Given the description of an element on the screen output the (x, y) to click on. 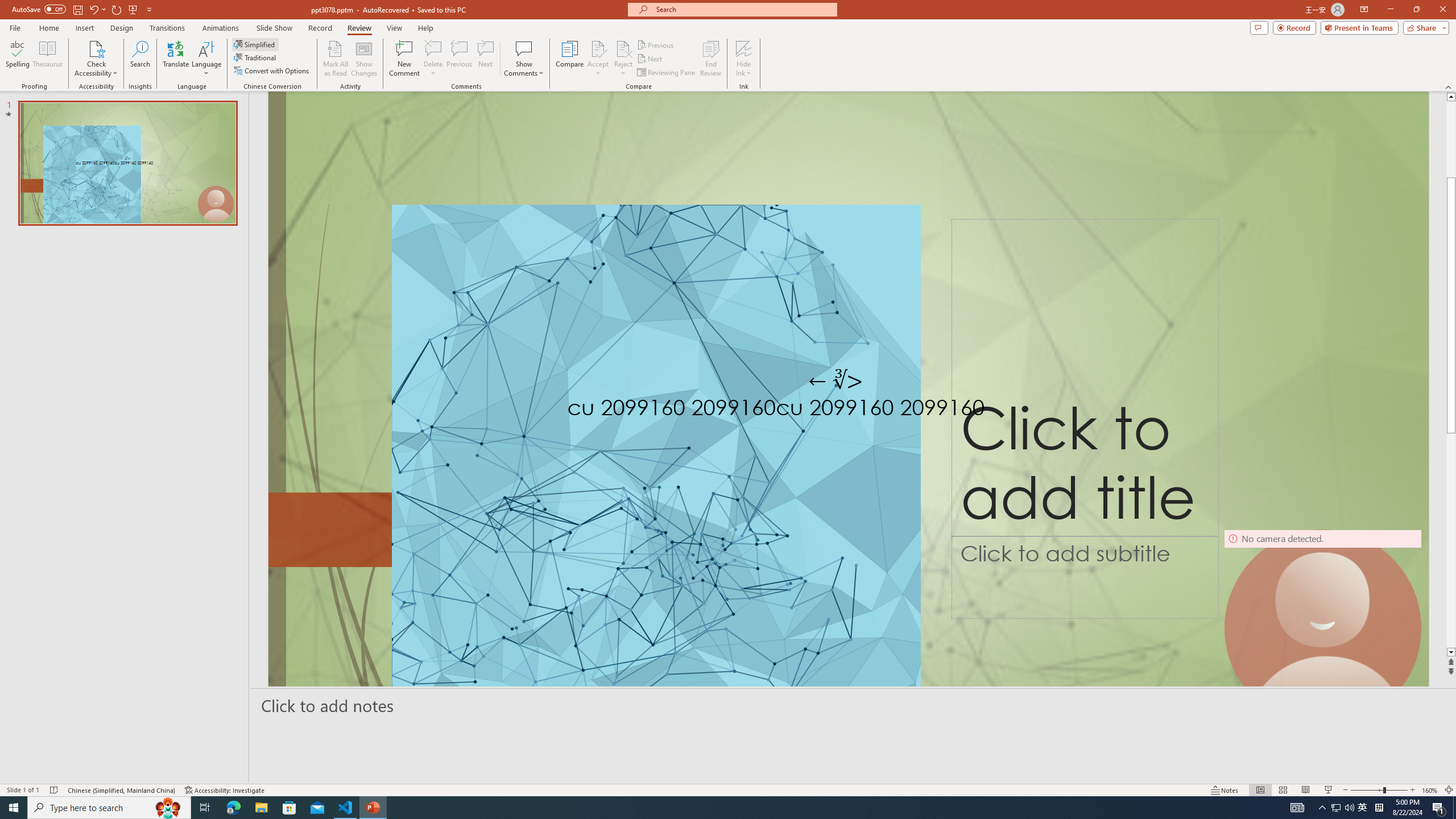
Simplified (254, 44)
Reviewing Pane (666, 72)
Previous (655, 44)
Mark All as Read (335, 58)
Compare (569, 58)
Zoom 160% (1430, 790)
An abstract genetic concept (847, 412)
